Given the description of an element on the screen output the (x, y) to click on. 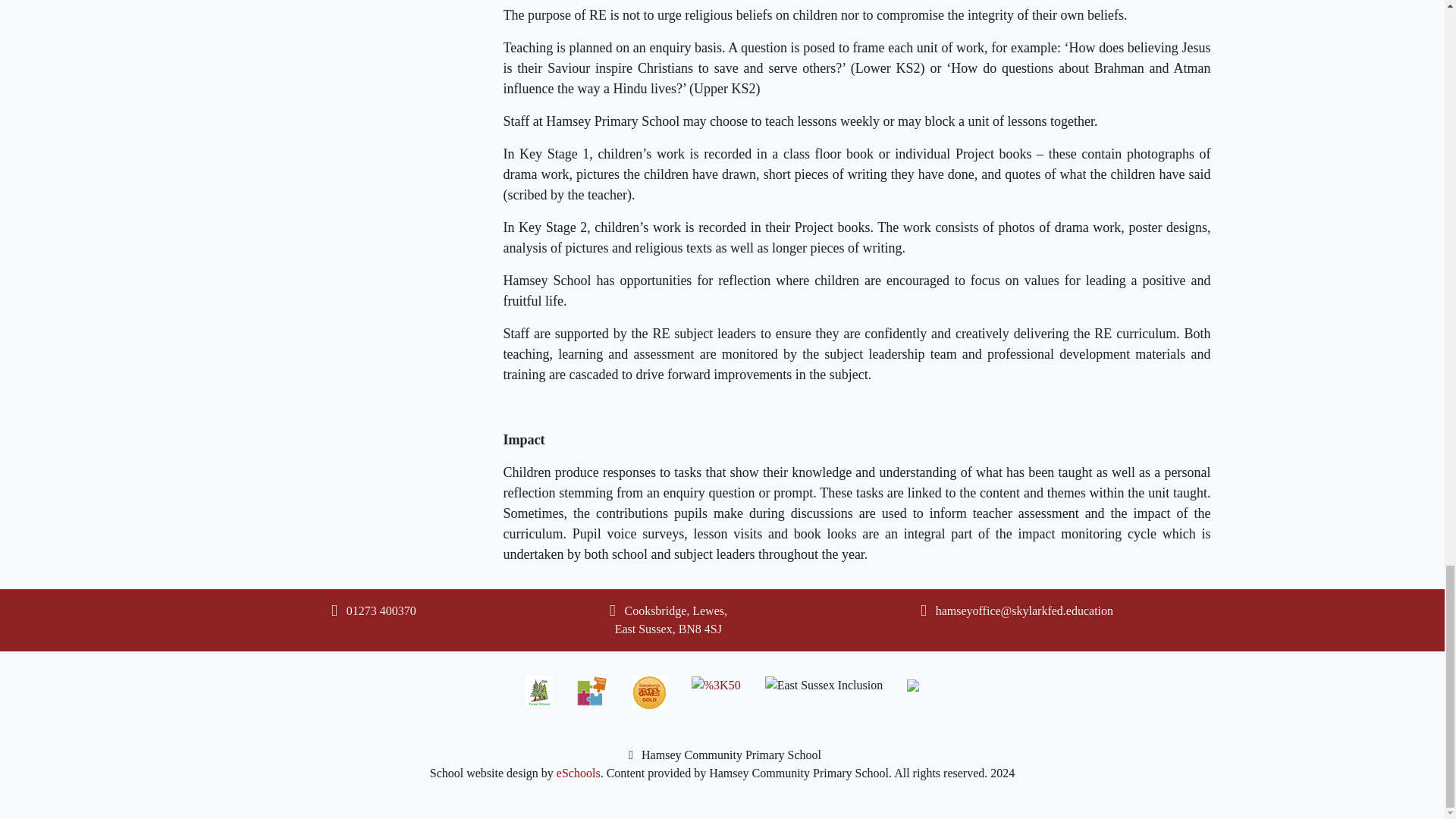
Forest Schools (539, 690)
East Sussex Inclusion (824, 685)
Parent View (591, 690)
School Games Gold (648, 692)
